Given the description of an element on the screen output the (x, y) to click on. 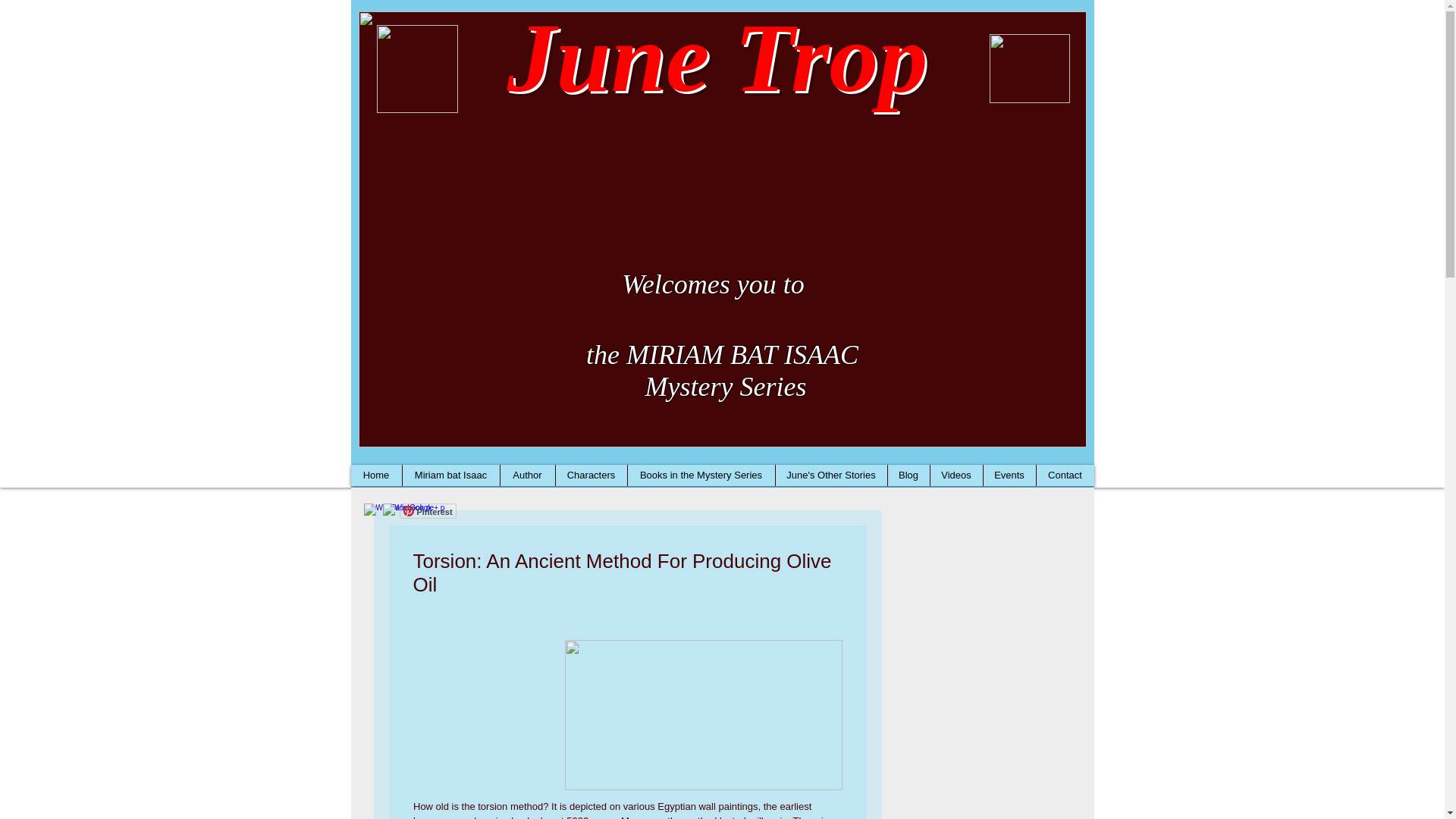
Books in the Mystery Series (700, 475)
Contact (1064, 475)
Videos (956, 475)
Author (526, 475)
Characters (590, 475)
Miriam bat Isaac (450, 475)
June's Other Stories (830, 475)
Pinterest (426, 510)
Blog (908, 475)
Home (375, 475)
